Given the description of an element on the screen output the (x, y) to click on. 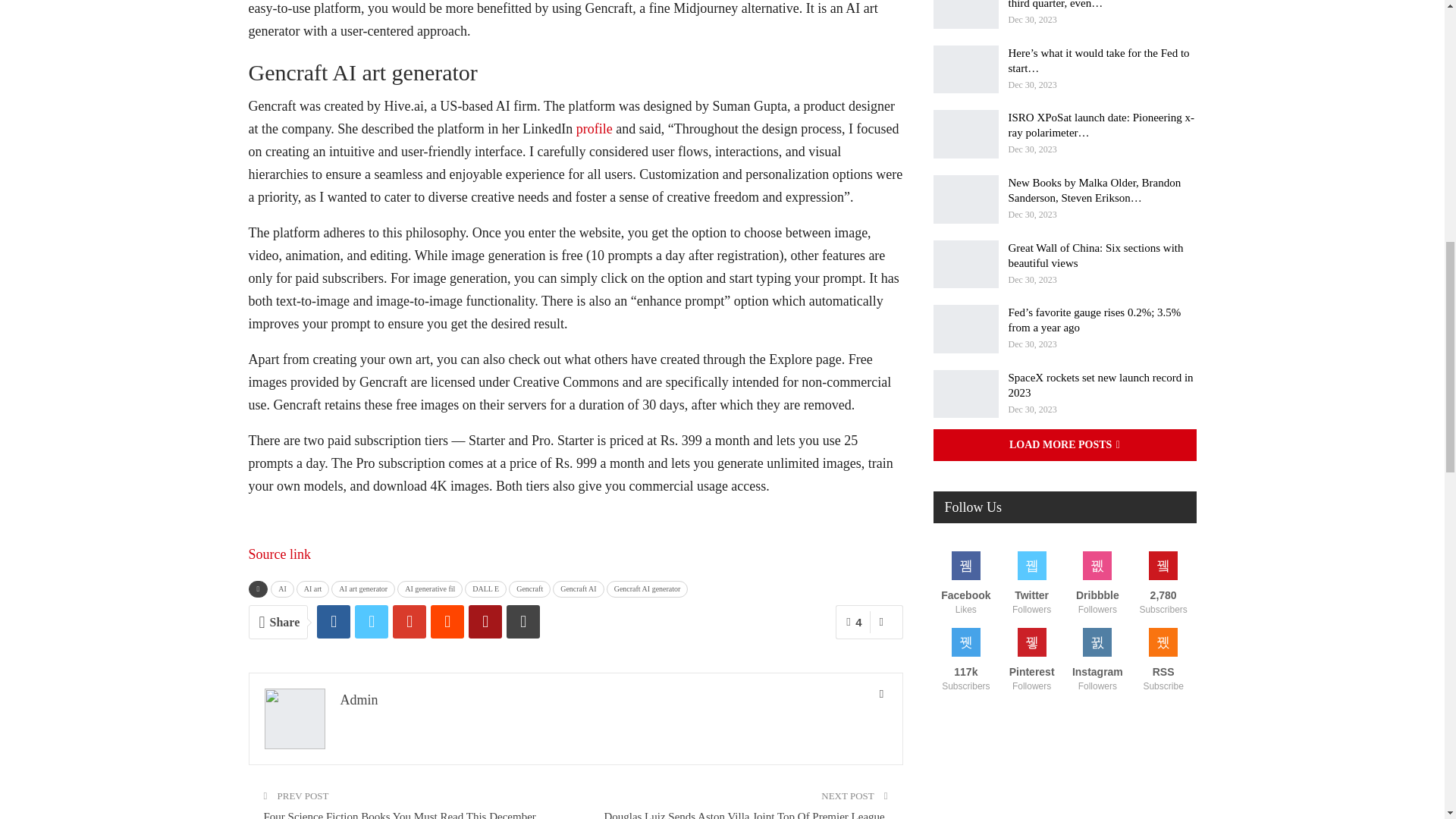
AI (282, 588)
Source link (279, 554)
profile (594, 128)
AI art (313, 588)
